Given the description of an element on the screen output the (x, y) to click on. 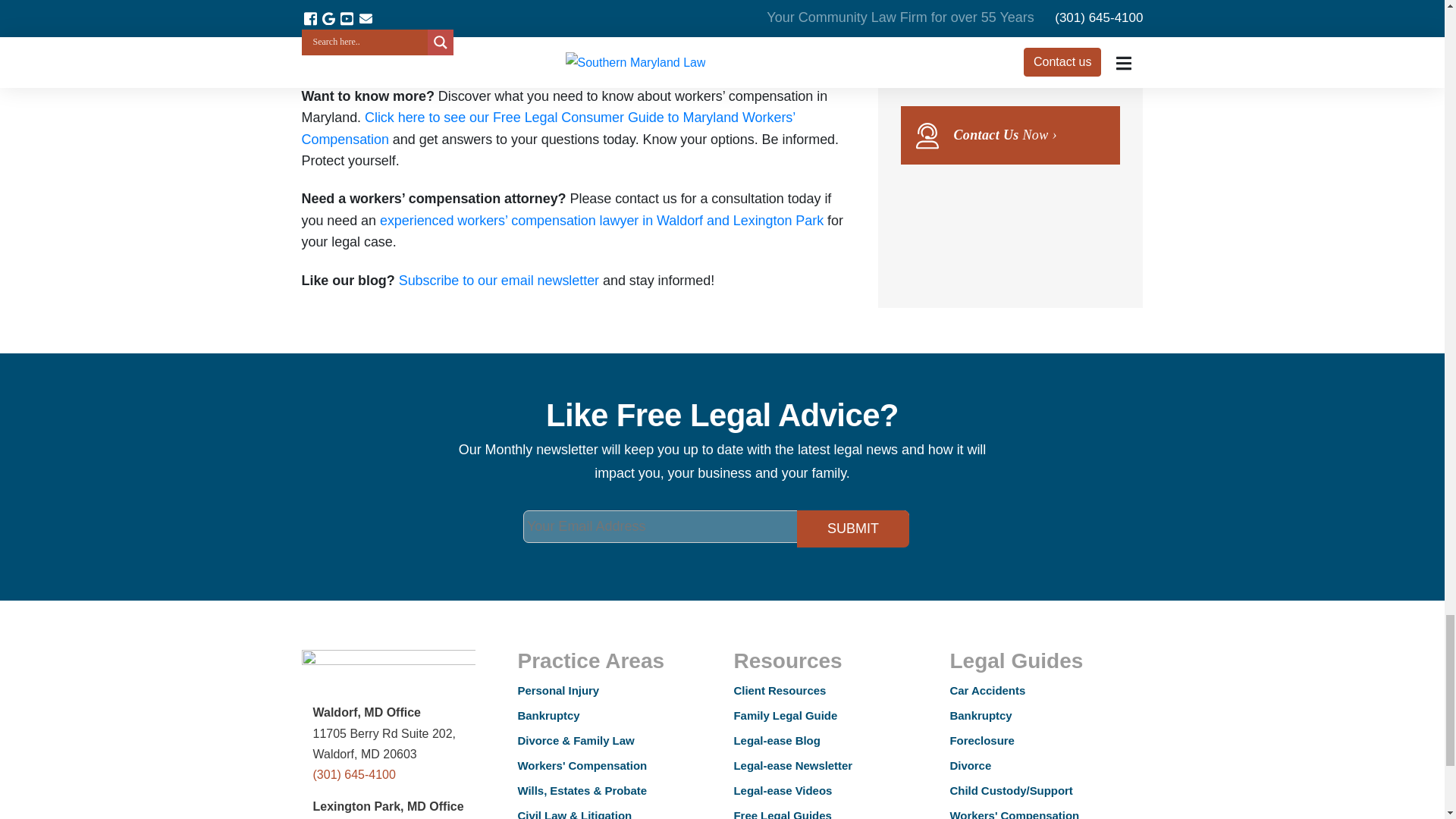
Submit (852, 528)
